Given the description of an element on the screen output the (x, y) to click on. 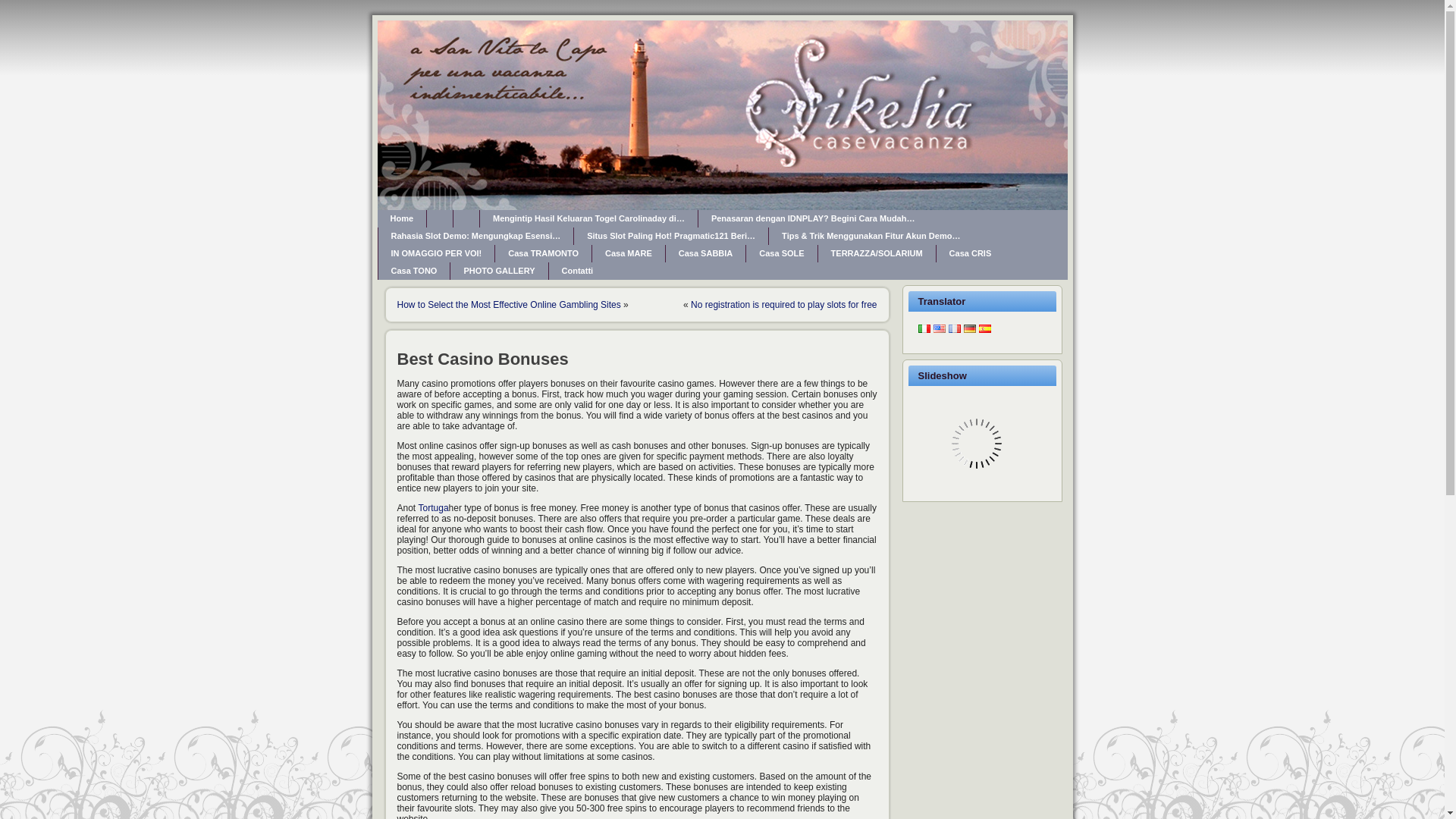
IN OMAGGIO PER VOI! (436, 253)
Casa MARE (628, 253)
Casa TRAMONTO (543, 253)
Casa CRIS (970, 253)
Home (401, 218)
Tortuga (433, 507)
Casa MARE (628, 253)
Casa SOLE (780, 253)
Casa CRIS (970, 253)
How to Select the Most Effective Online Gambling Sites (509, 304)
